Given the description of an element on the screen output the (x, y) to click on. 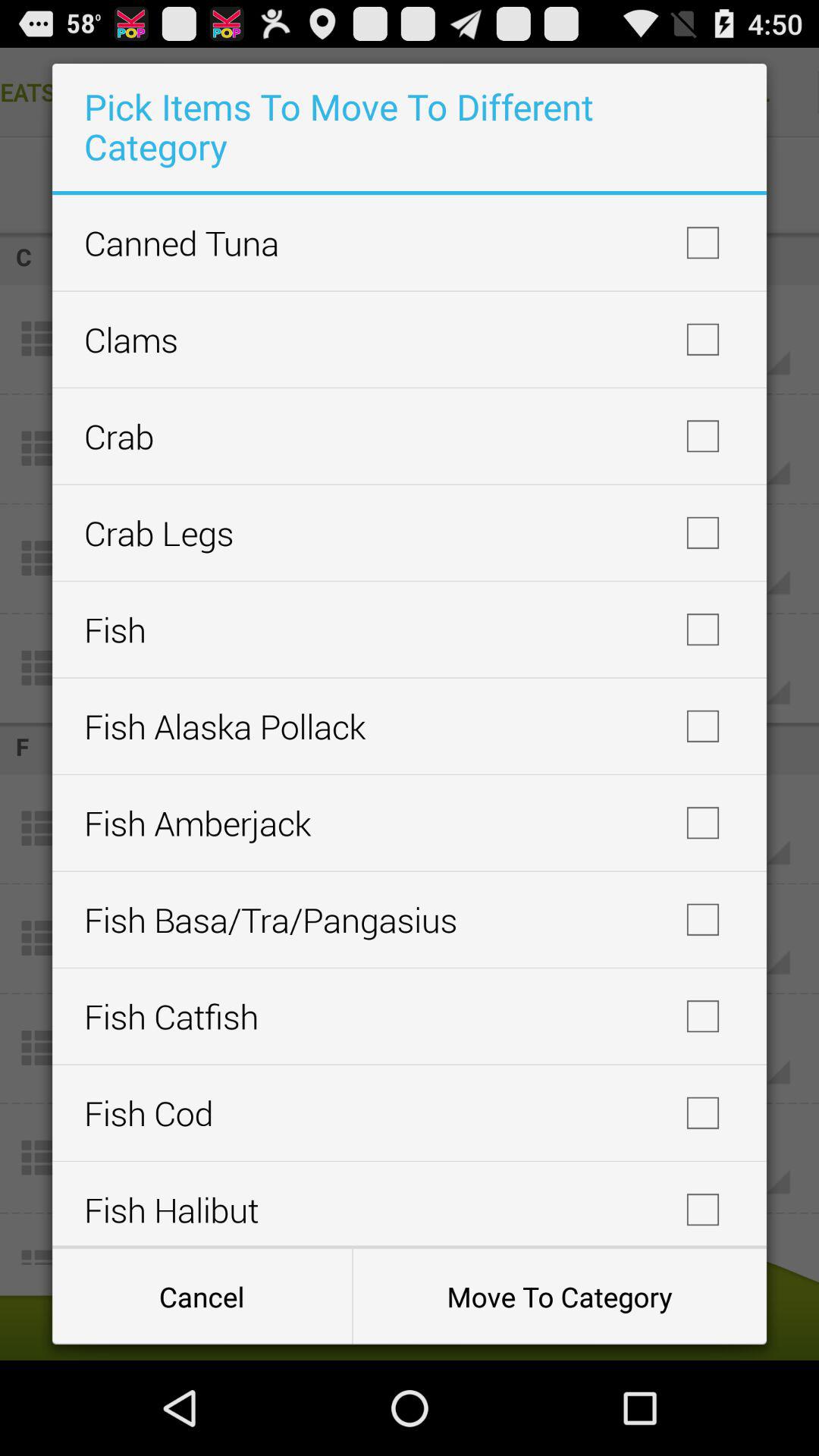
open icon below fish halibut checkbox (202, 1296)
